Given the description of an element on the screen output the (x, y) to click on. 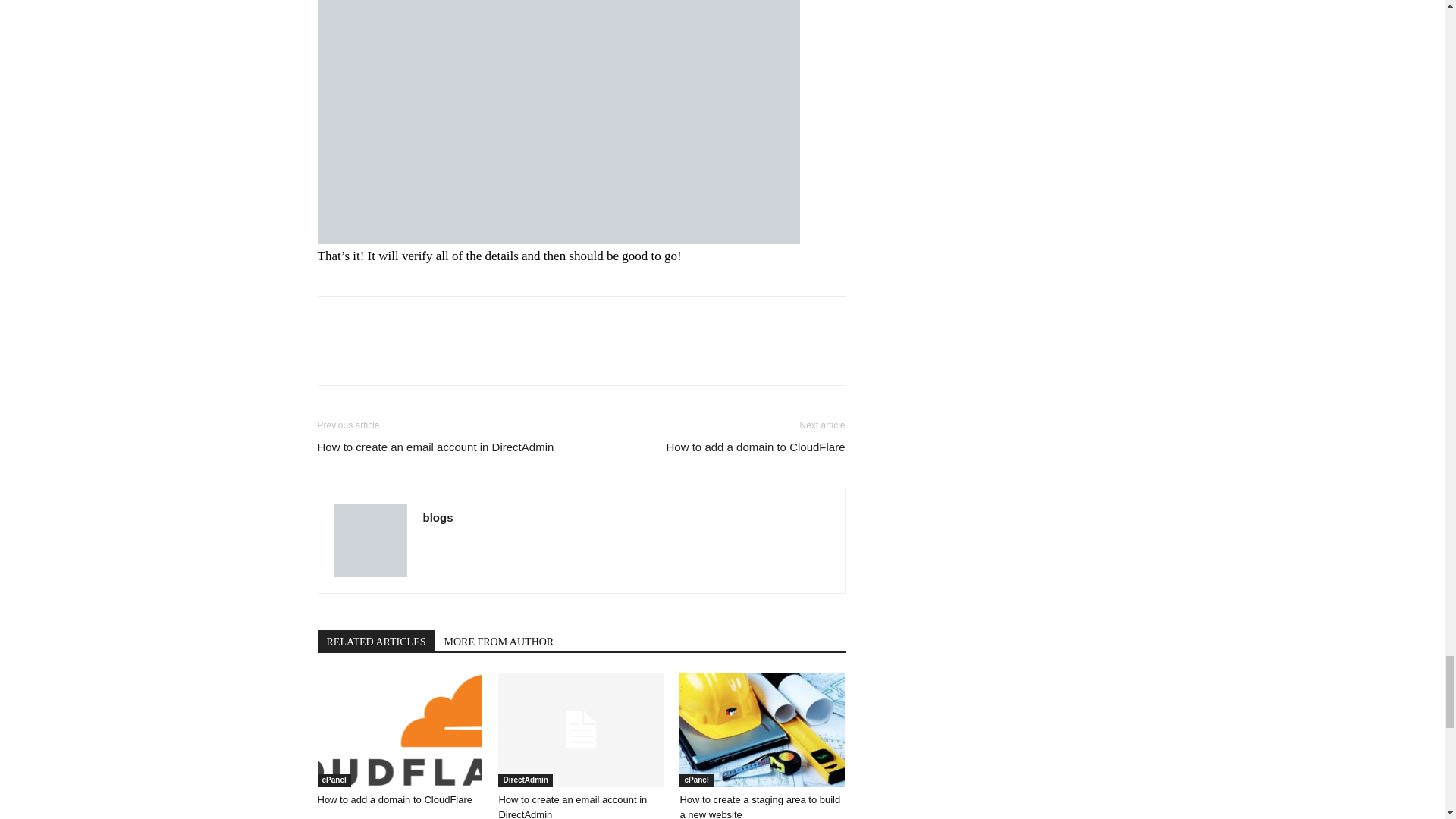
How to create an email account in DirectAdmin (571, 806)
How to create a staging area to build a new website (761, 730)
How to add a domain to CloudFlare (394, 799)
How to add a domain to CloudFlare (399, 730)
How to create an email account in DirectAdmin (580, 730)
